Given the description of an element on the screen output the (x, y) to click on. 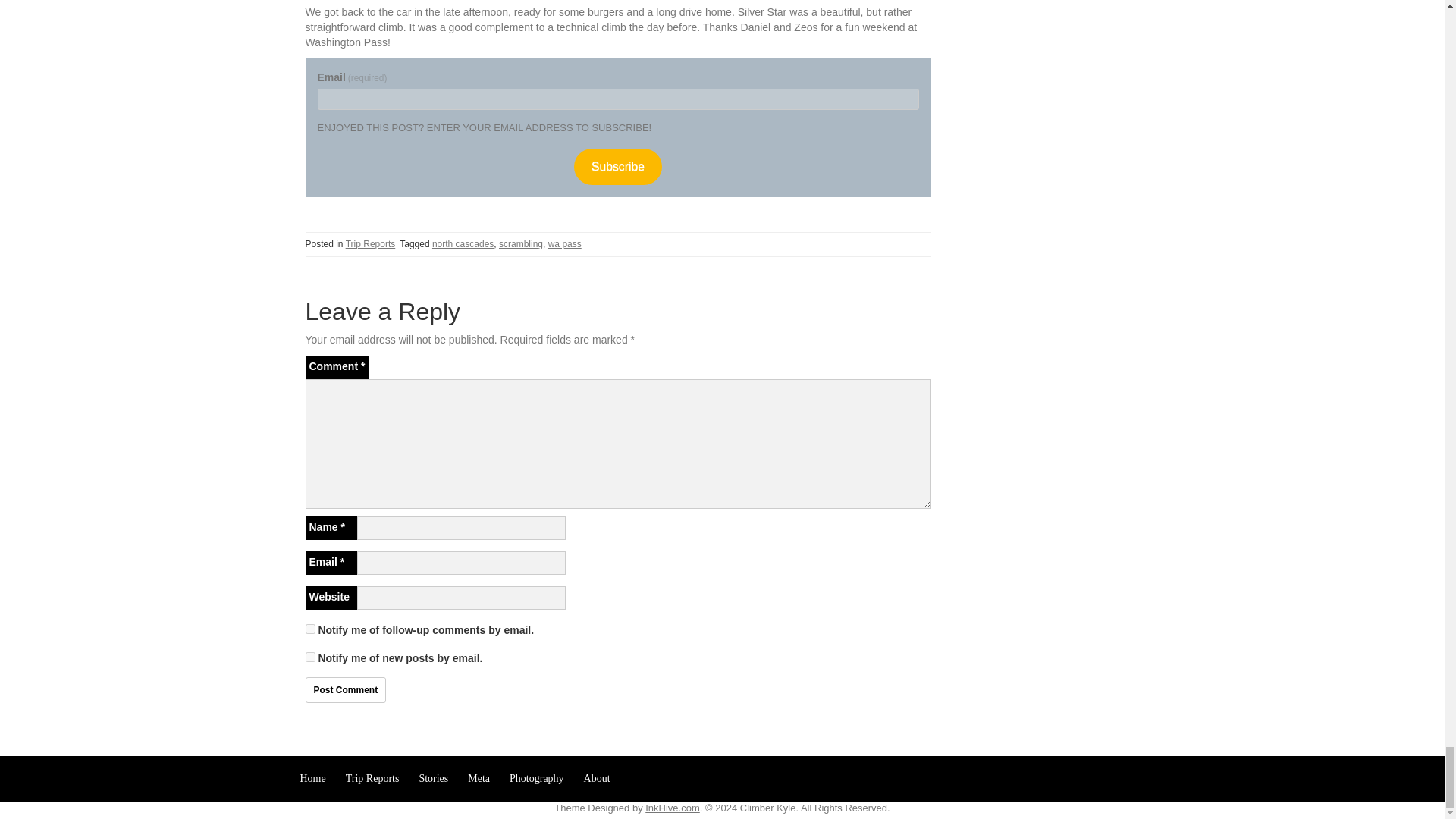
subscribe (309, 628)
north cascades (462, 244)
Subscribe (617, 166)
scrambling (521, 244)
wa pass (564, 244)
Trip Reports (371, 244)
Post Comment (344, 689)
Post Comment (344, 689)
subscribe (309, 656)
